Given the description of an element on the screen output the (x, y) to click on. 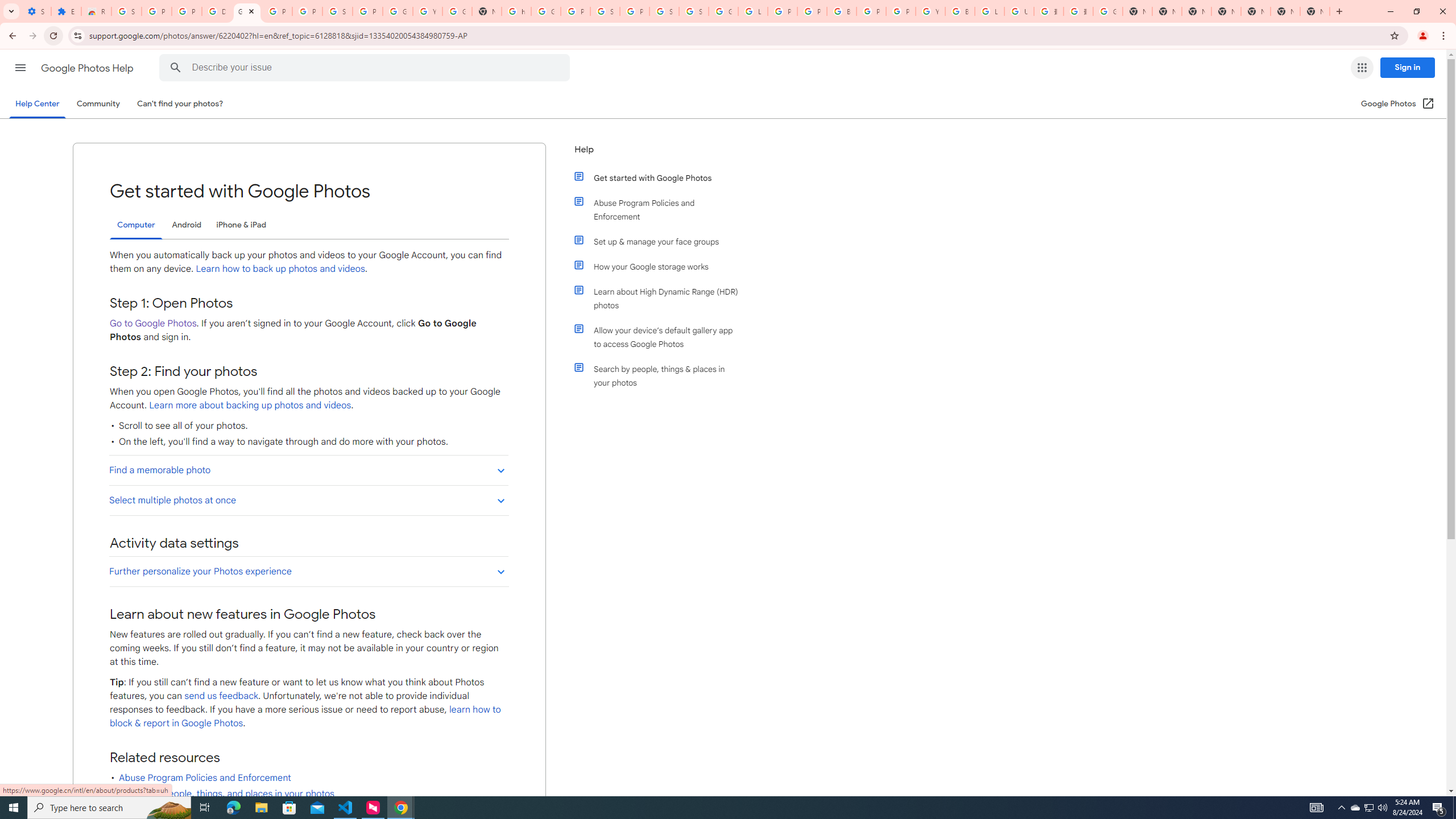
Sign in (1407, 67)
YouTube (426, 11)
Sign in - Google Accounts (126, 11)
Learn more about backing up photos and videos (249, 405)
Google Photos Help (87, 68)
